Given the description of an element on the screen output the (x, y) to click on. 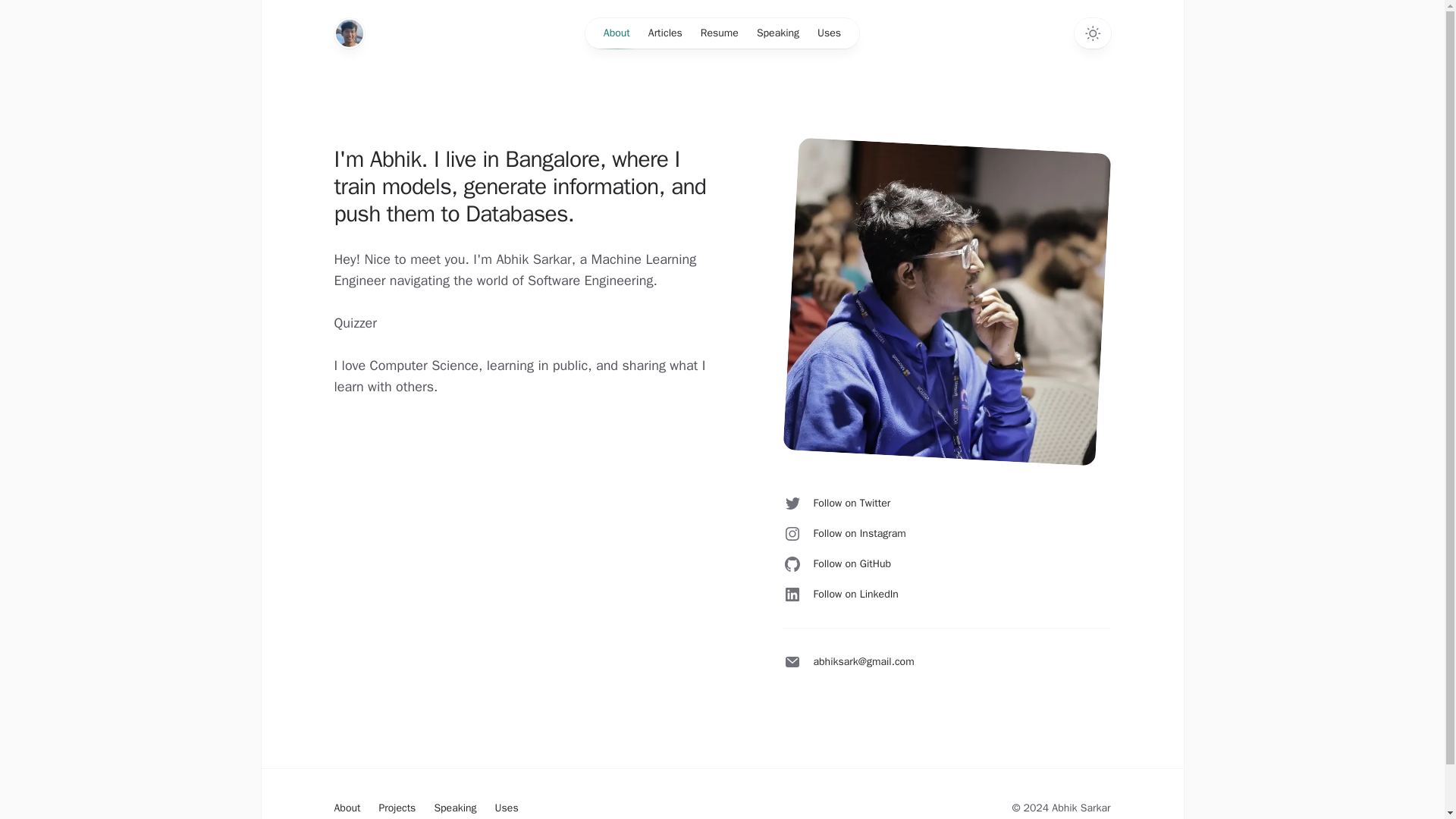
Follow on LinkedIn (840, 594)
Resume (719, 33)
Articles (665, 33)
Follow on GitHub (837, 564)
Projects (396, 808)
Follow on Twitter (836, 503)
Uses (506, 808)
About (616, 33)
Uses (829, 33)
About (346, 808)
Follow on Instagram (844, 533)
Speaking (778, 33)
Speaking (454, 808)
